Given the description of an element on the screen output the (x, y) to click on. 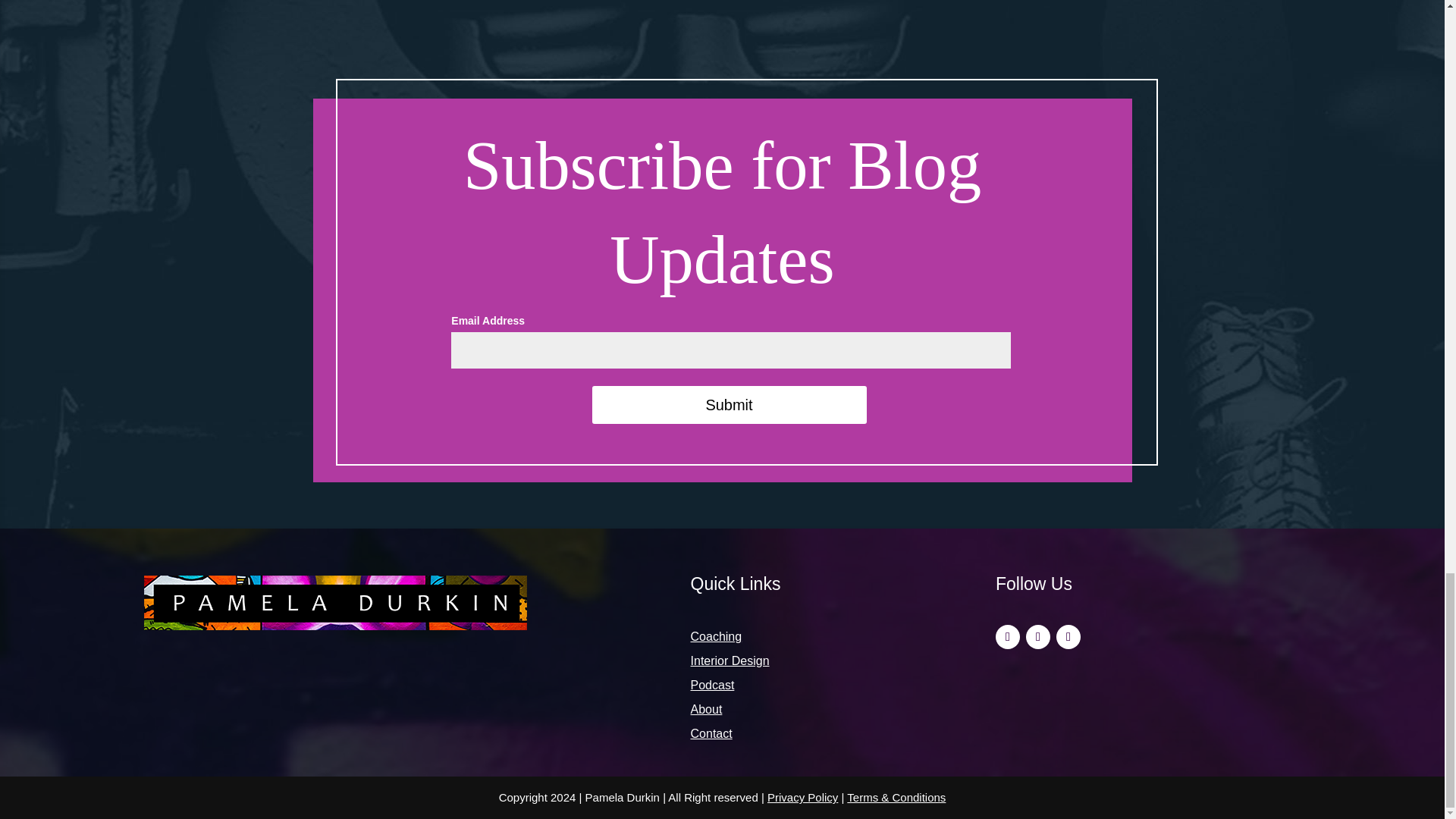
Coaching (811, 636)
pamela-durkin-logo (335, 602)
Follow on Instagram (1037, 636)
Podcast (811, 685)
Interior Design (811, 661)
Follow on Facebook (1068, 636)
About (811, 709)
Submit (728, 404)
Follow on LinkedIn (1007, 636)
Contact (811, 733)
Privacy Policy (802, 797)
